Given the description of an element on the screen output the (x, y) to click on. 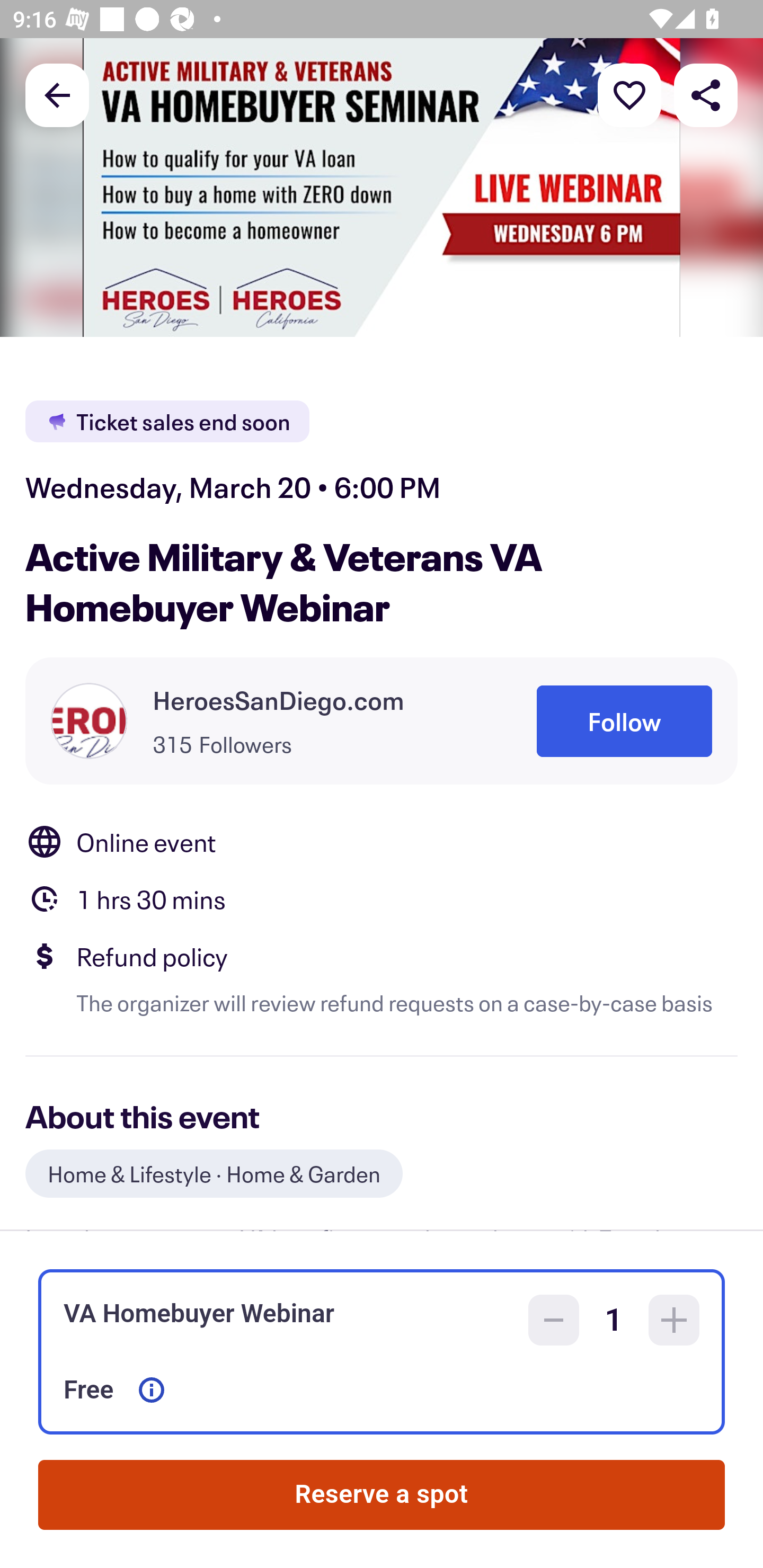
Back (57, 94)
More (629, 94)
Share (705, 94)
HeroesSanDiego.com (278, 699)
Organizer profile picture (89, 720)
Follow (623, 720)
Location Online event (381, 840)
